Given the description of an element on the screen output the (x, y) to click on. 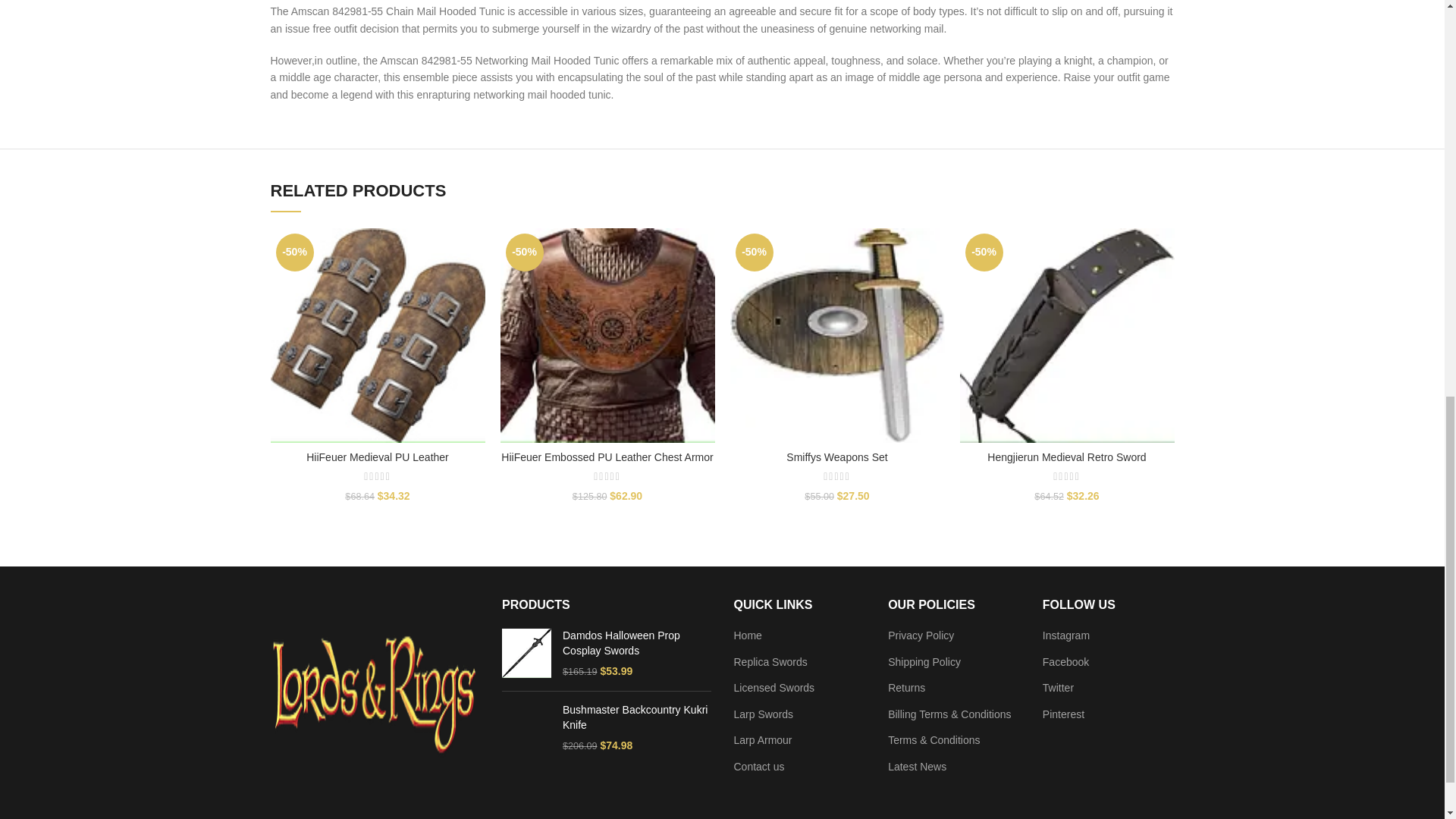
Damdos Halloween Prop Cosplay Swords (636, 643)
Bushmaster Backcountry Kukri Knife (526, 727)
Damdos Halloween Prop Cosplay Swords (526, 653)
